Given the description of an element on the screen output the (x, y) to click on. 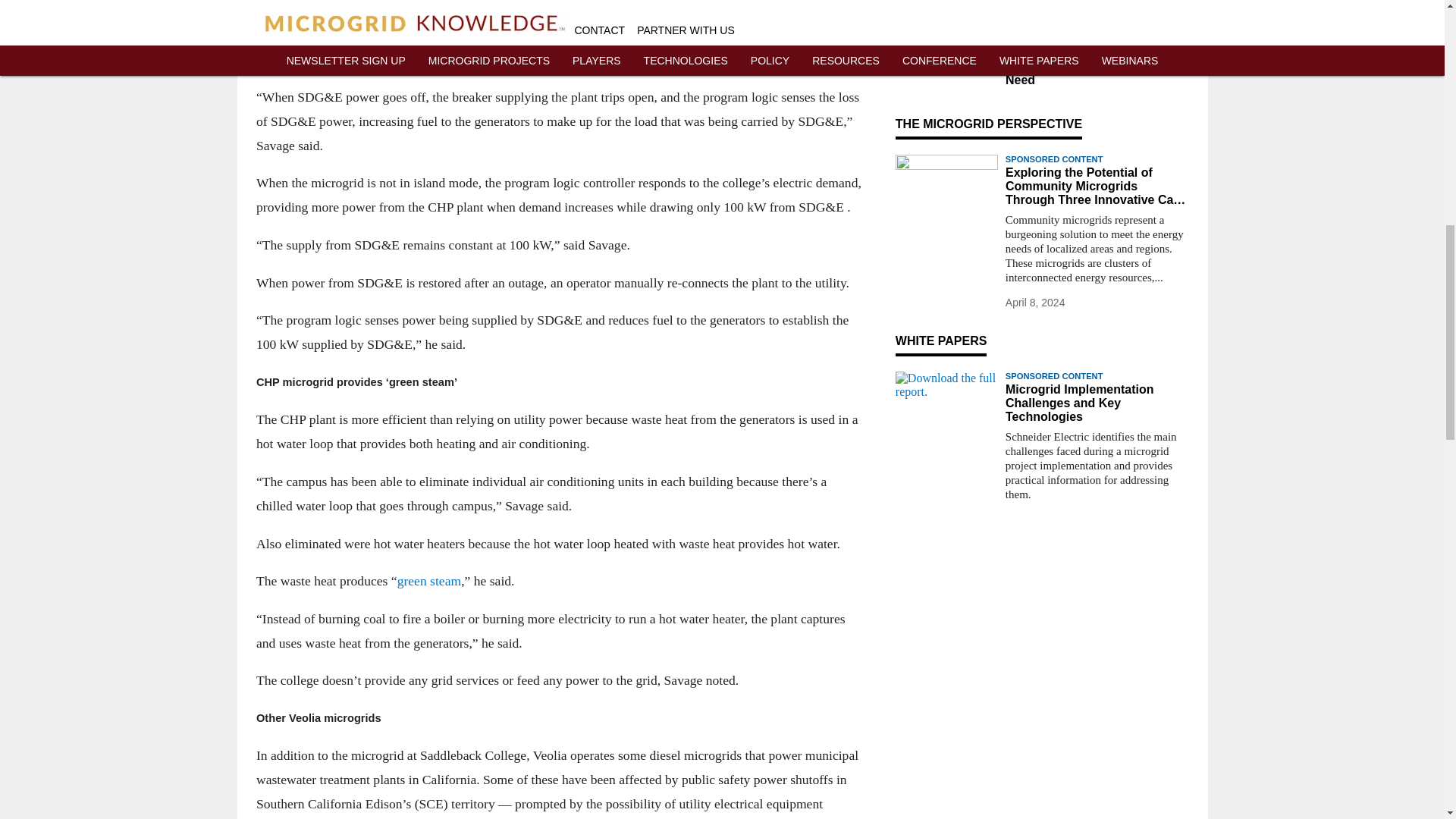
THE MICROGRID PERSPECTIVE (988, 123)
Propane Is a Sustainable Choice for Growing Microgrid Need (1097, 65)
Download the full report. (946, 399)
green steam (428, 580)
